Given the description of an element on the screen output the (x, y) to click on. 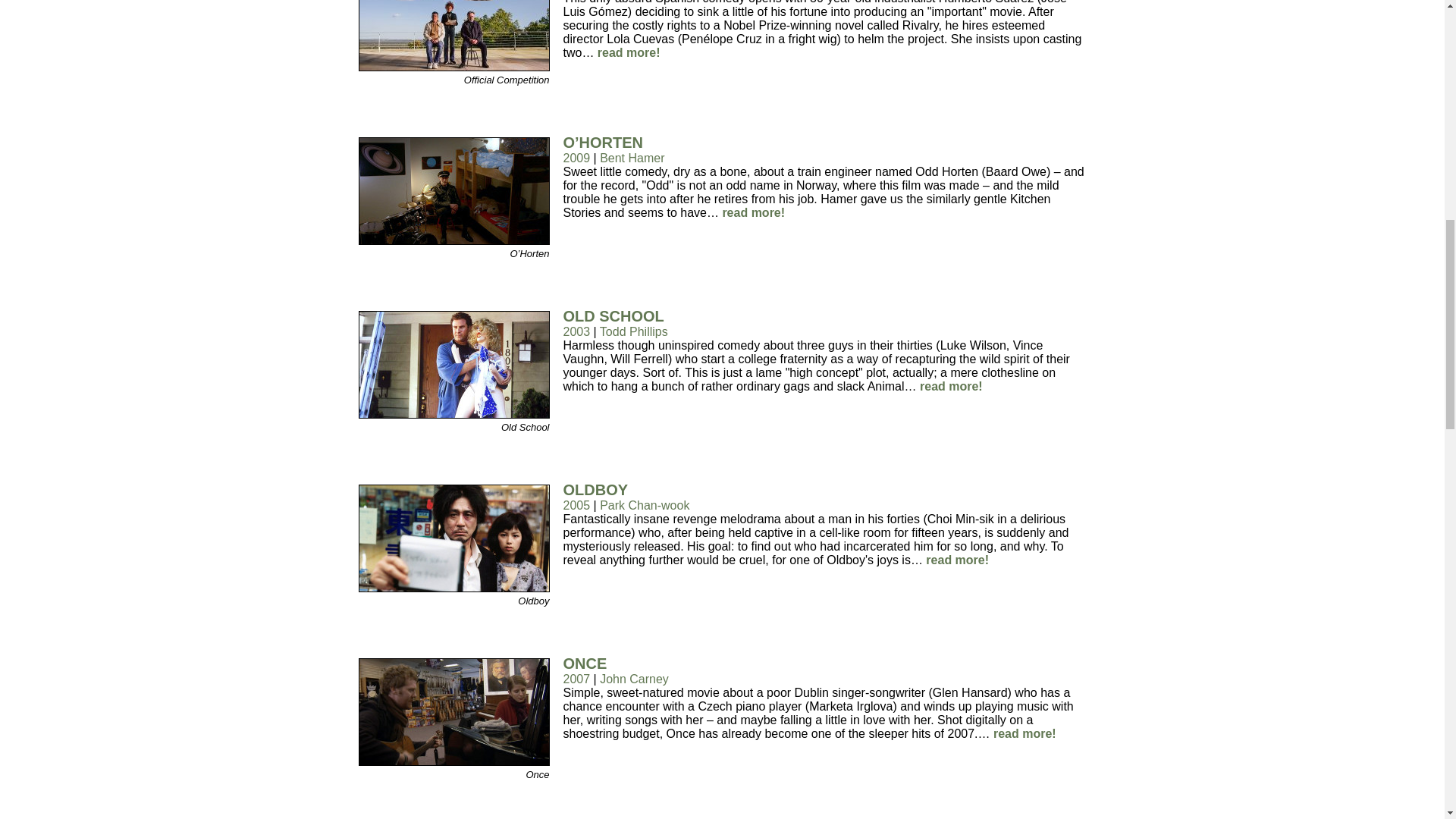
Oldboy (453, 587)
Once (453, 761)
Official Competition (453, 66)
Old School (453, 413)
